Given the description of an element on the screen output the (x, y) to click on. 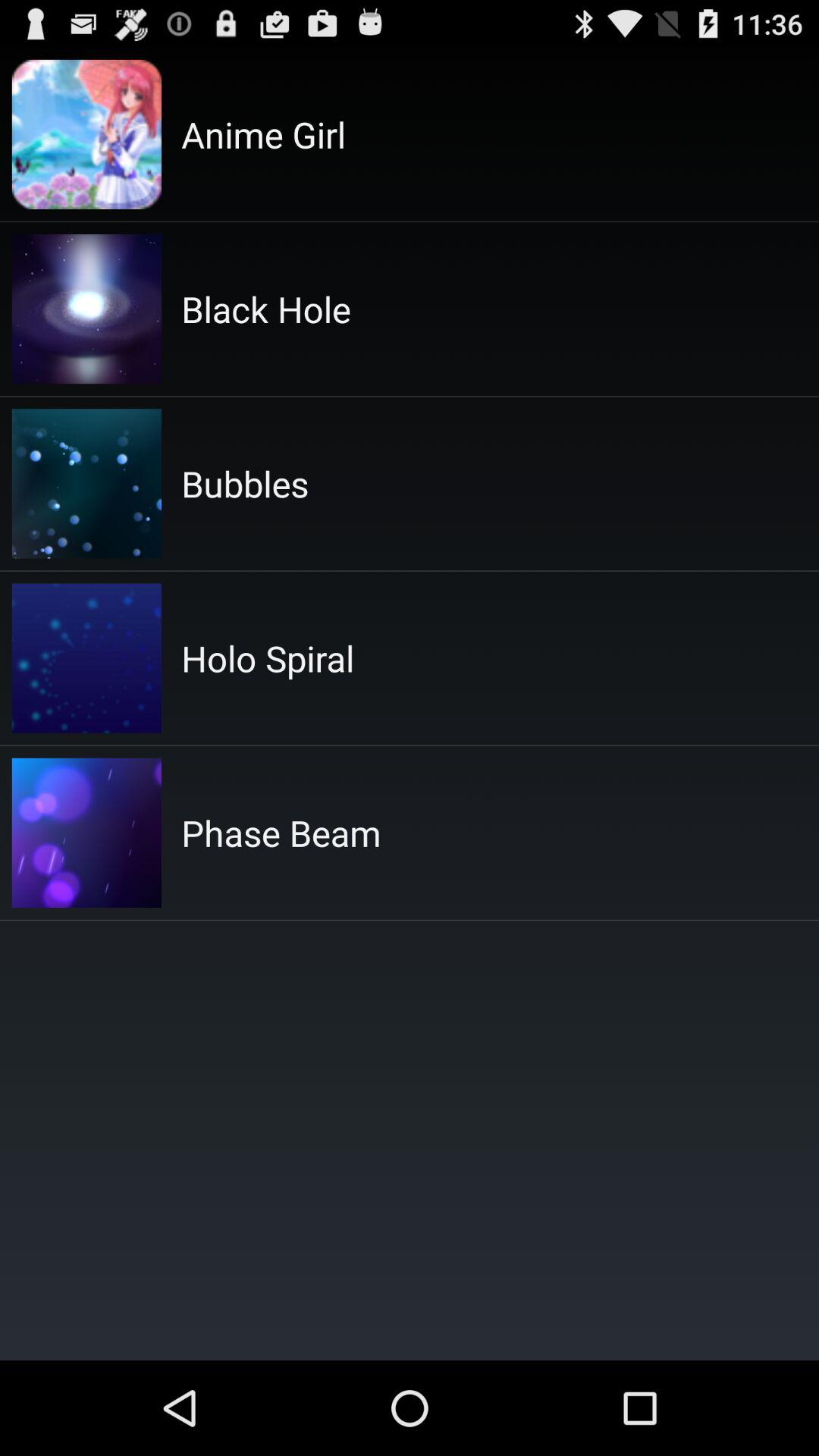
flip until the bubbles item (244, 483)
